Given the description of an element on the screen output the (x, y) to click on. 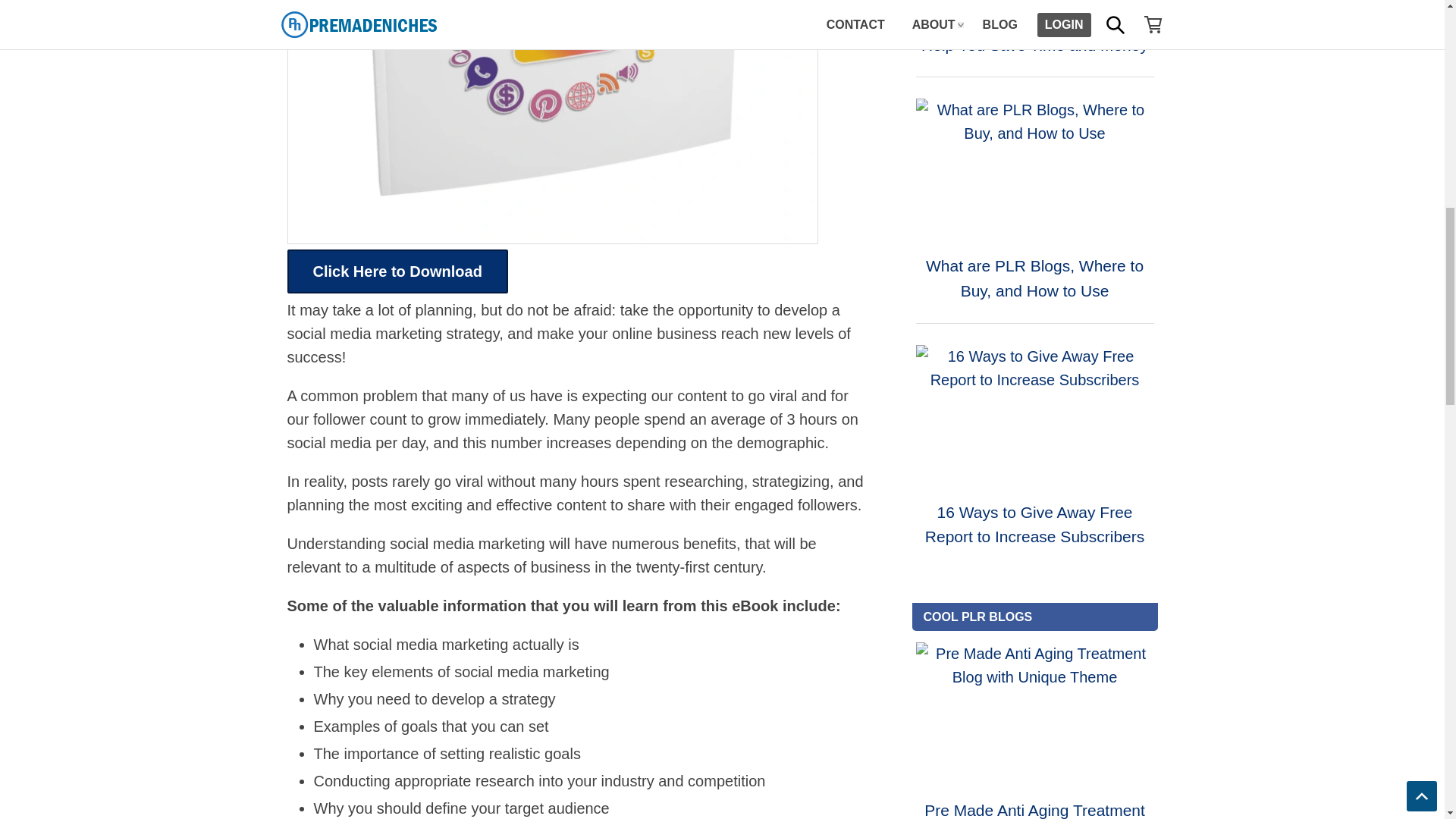
What are PLR Blogs, Where to Buy, and How to Use (1034, 169)
Pre Made Anti Aging Treatment Blog with Unique Theme (1034, 713)
16 Ways to Give Away Free Report to Increase Subscribers (1034, 415)
